Given the description of an element on the screen output the (x, y) to click on. 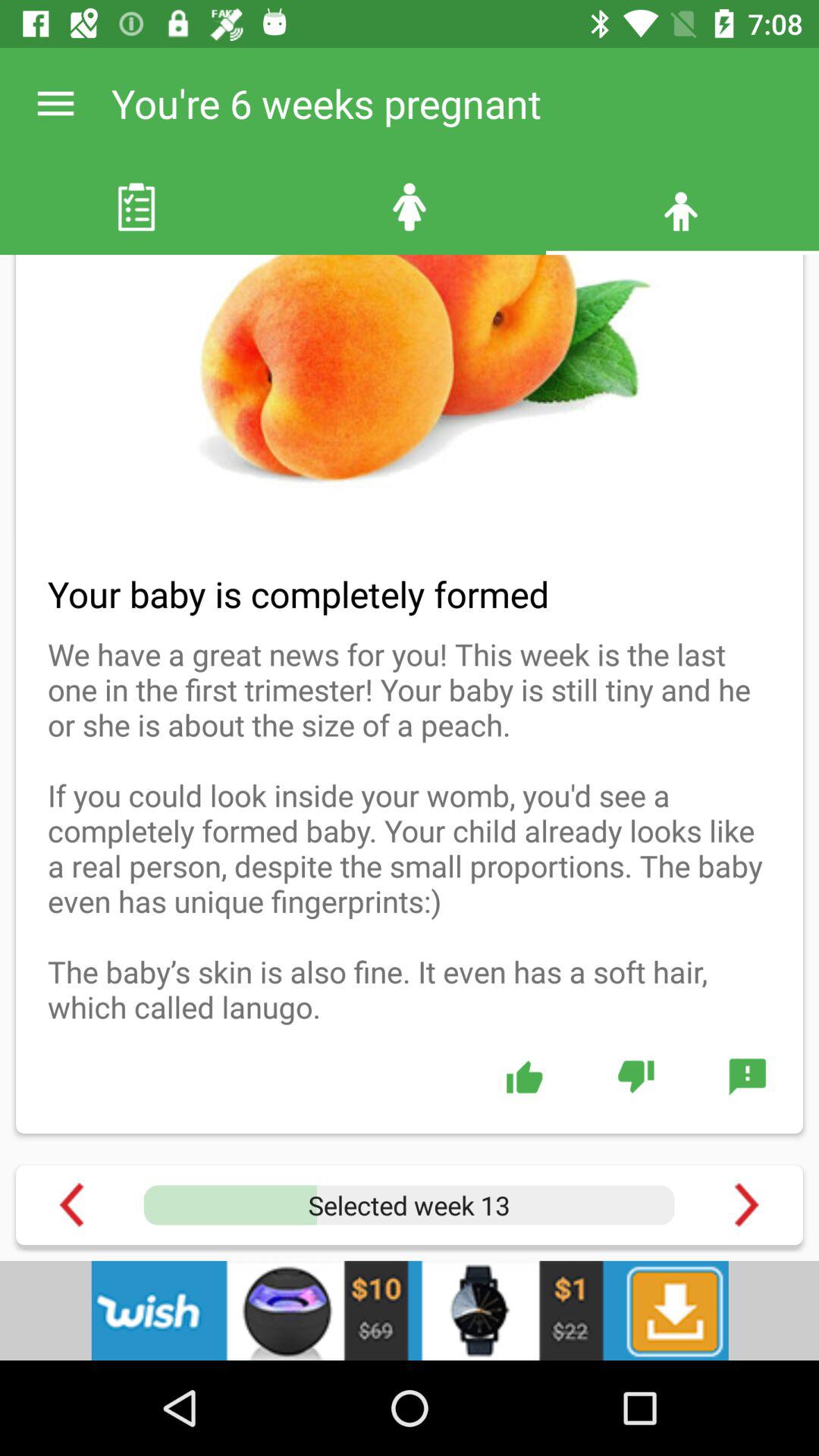
add comment (747, 1076)
